Given the description of an element on the screen output the (x, y) to click on. 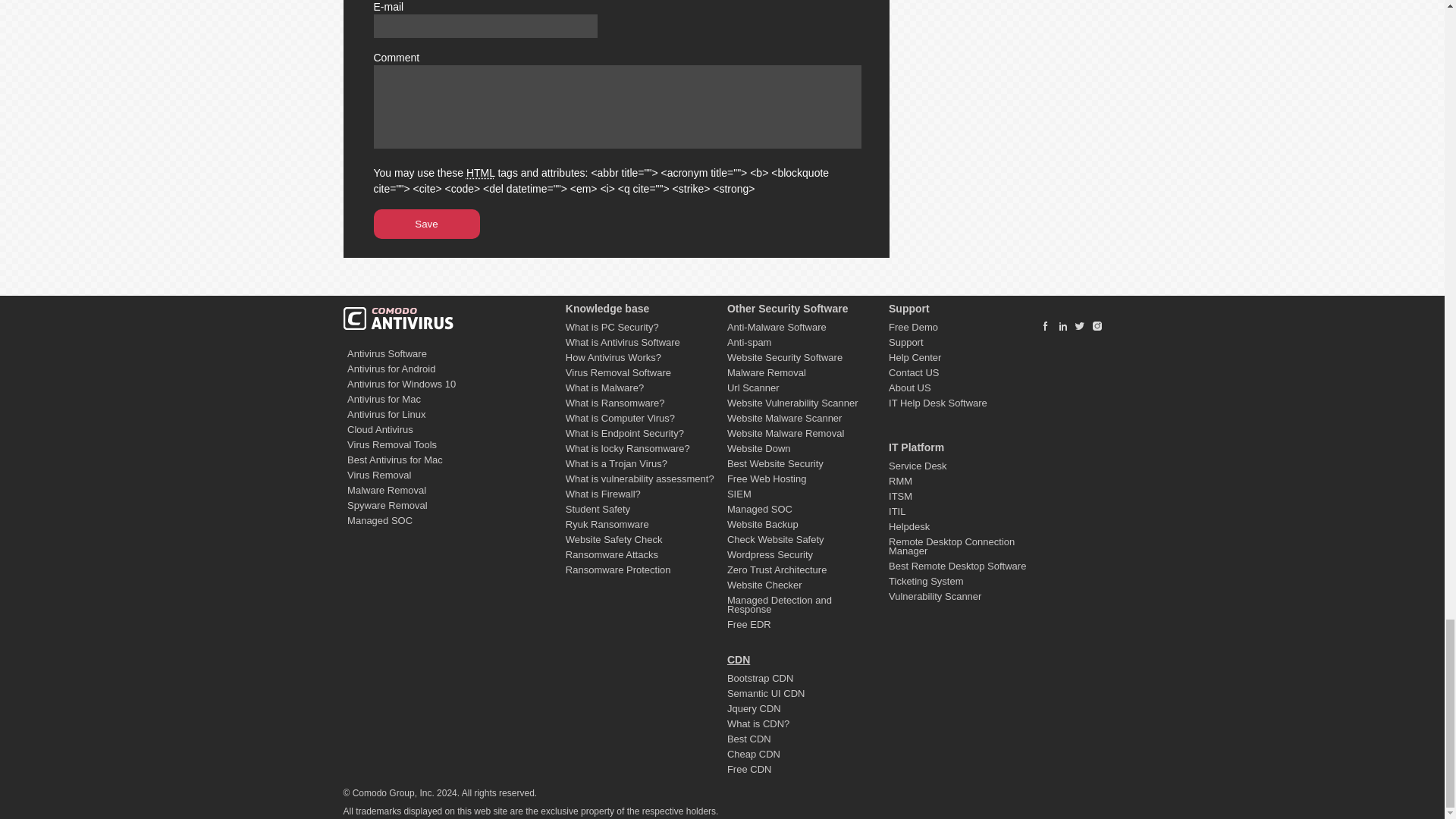
Save (425, 224)
